Given the description of an element on the screen output the (x, y) to click on. 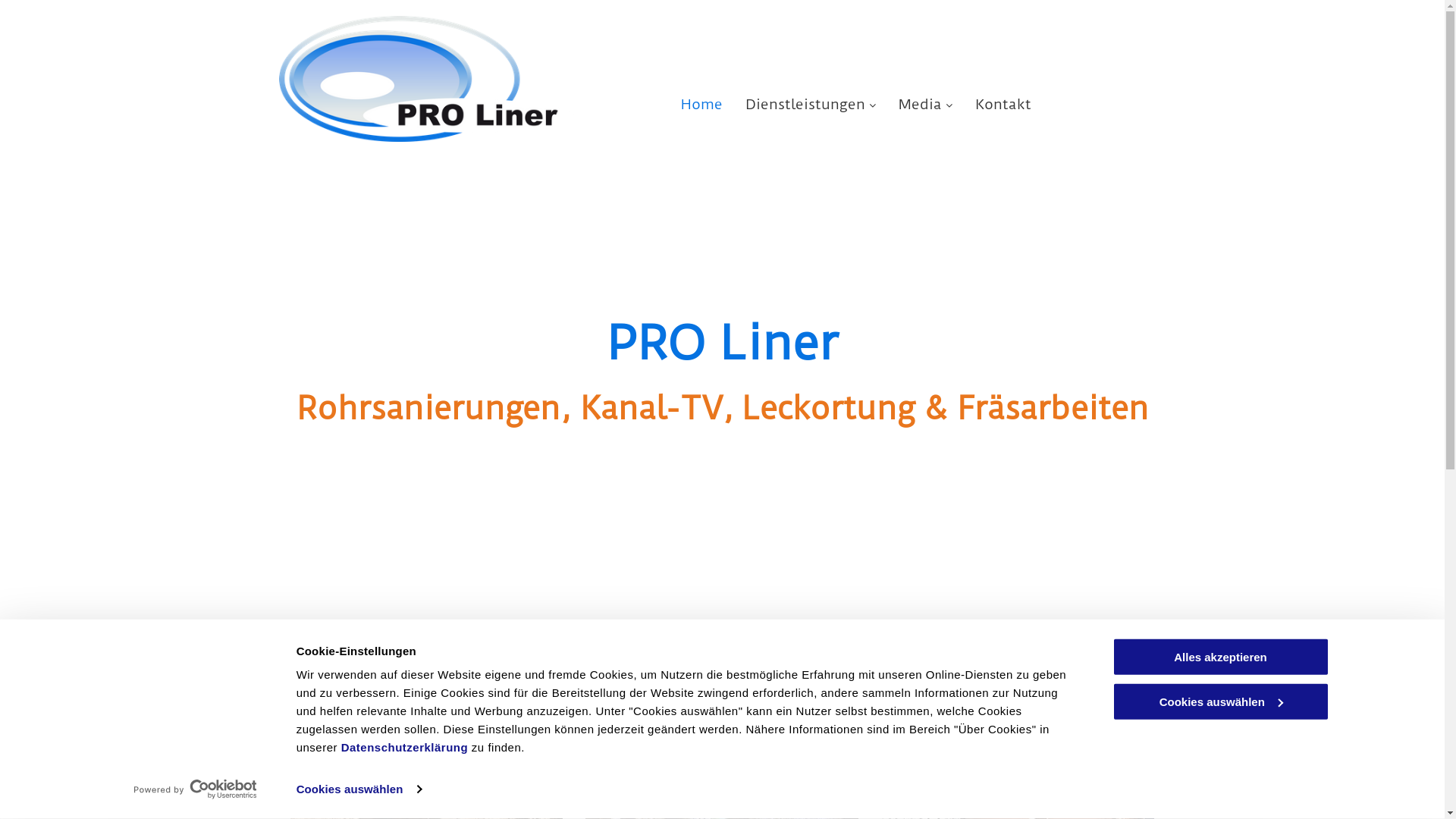
Media Element type: text (925, 103)
Home Element type: text (701, 103)
Dienstleistungen Element type: text (810, 103)
Alles akzeptieren Element type: text (1219, 656)
Kontakt Element type: text (1003, 103)
